Given the description of an element on the screen output the (x, y) to click on. 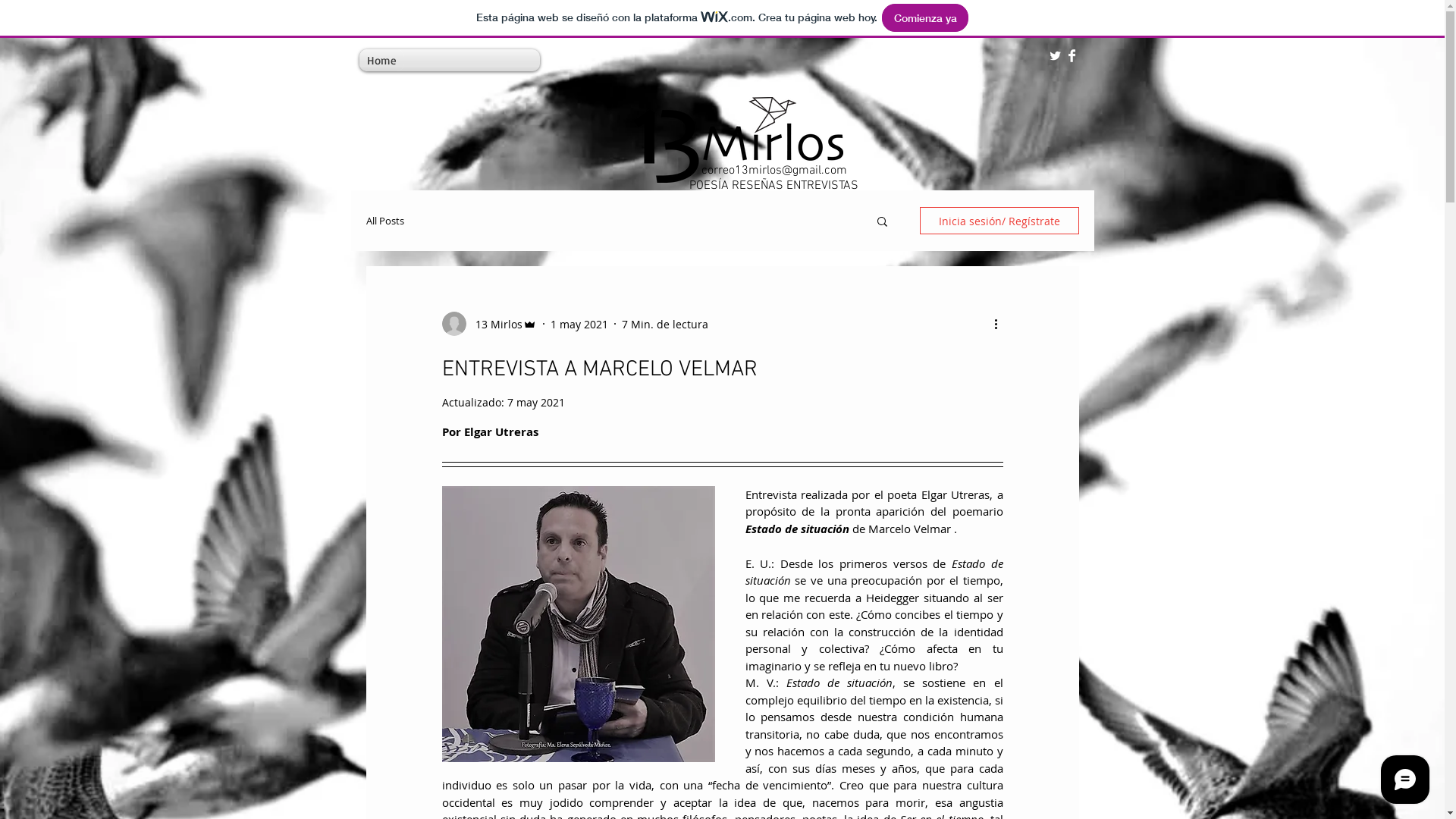
Home Element type: text (381, 60)
correo13mirlos@gmail.com Element type: text (773, 170)
All Posts Element type: text (384, 220)
